Given the description of an element on the screen output the (x, y) to click on. 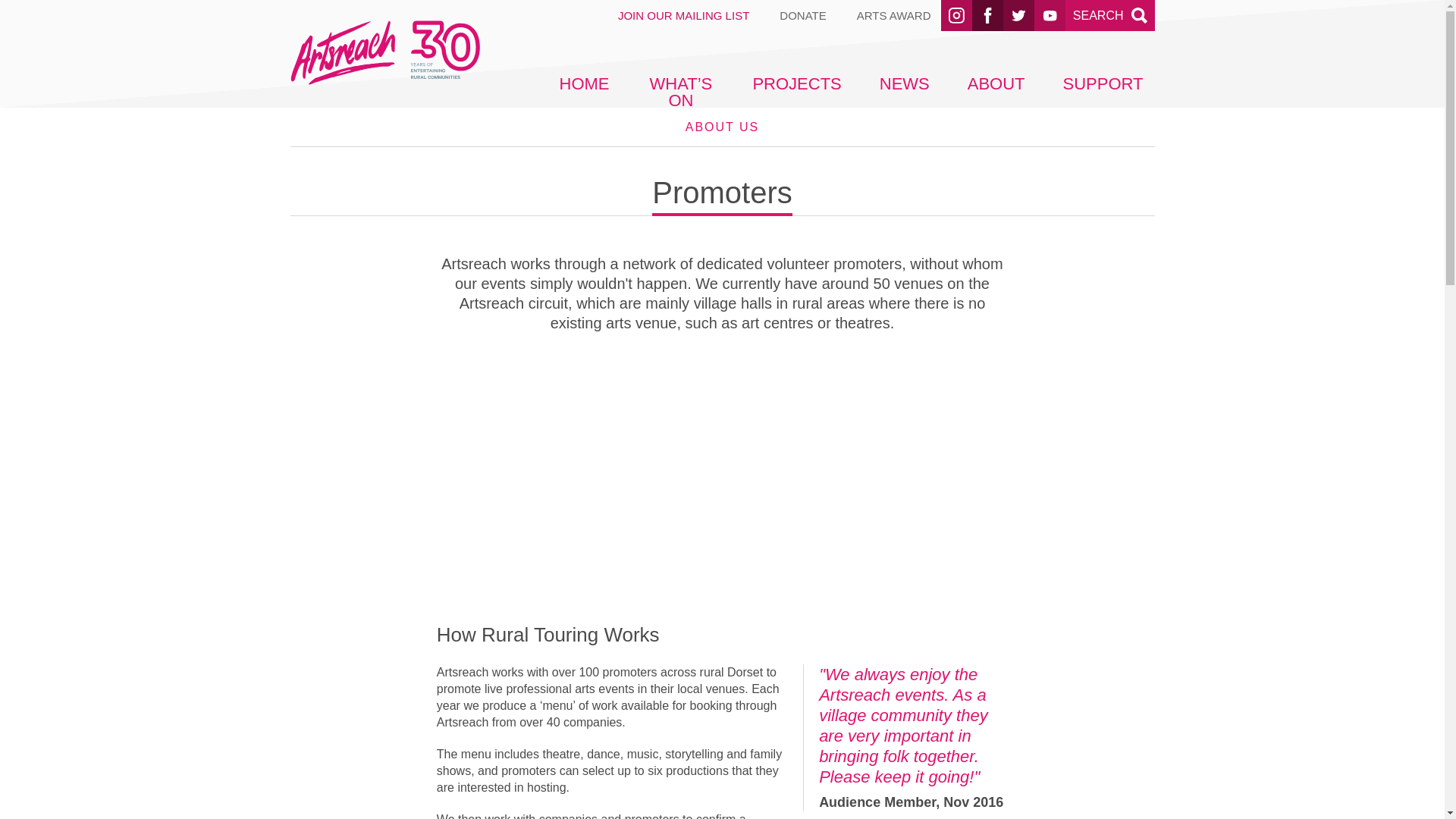
DONATE (1109, 15)
instagram (801, 15)
HOME (956, 15)
NEWS (583, 83)
SUPPORT (903, 83)
PROJECTS (1102, 83)
ARTS AWARD (796, 83)
search (894, 15)
artsreach-30Created with Sketch. (1139, 15)
